Given the description of an element on the screen output the (x, y) to click on. 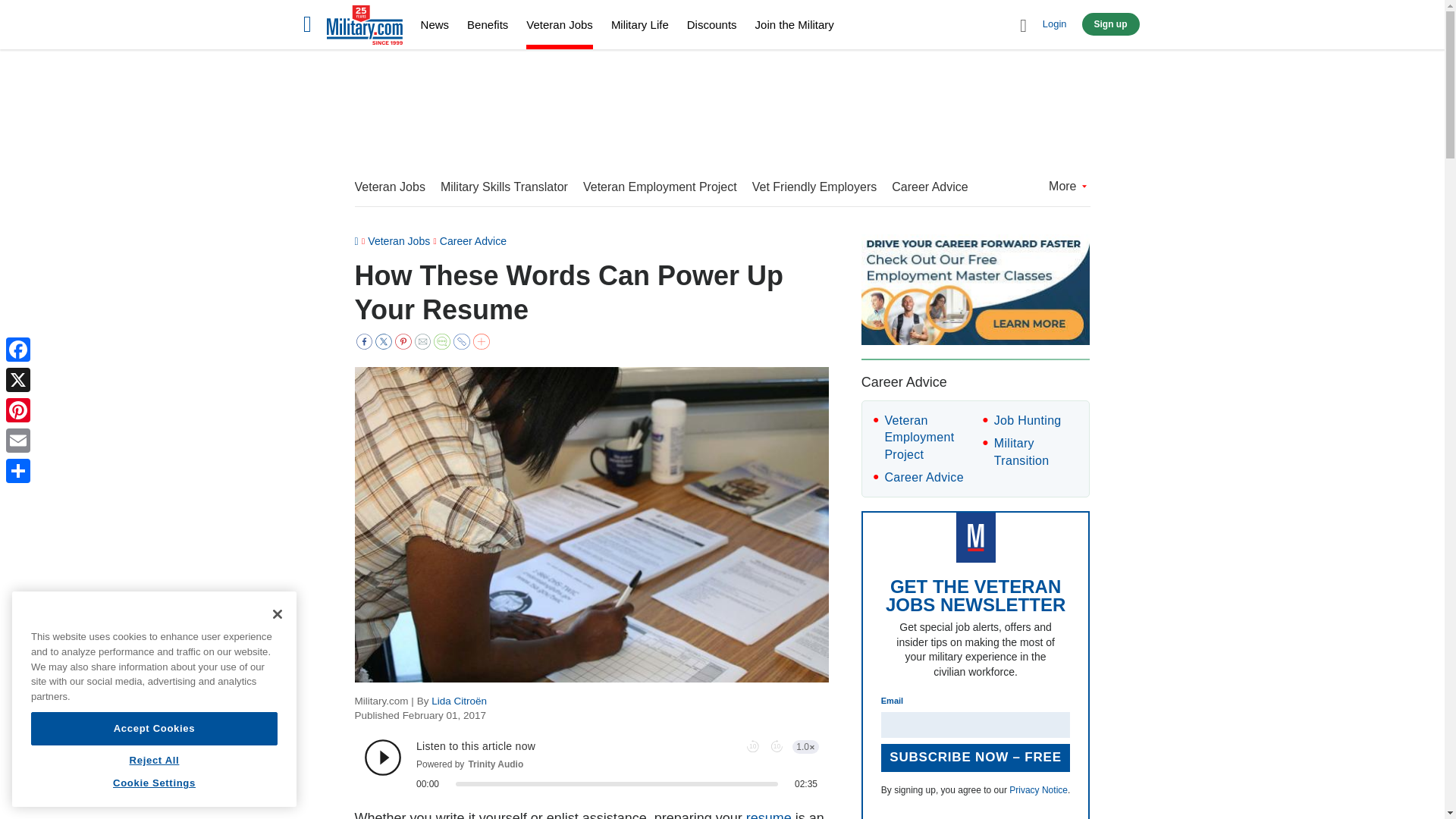
Home (364, 27)
Military Life (639, 24)
Trinity Audio Player (591, 763)
Benefits (487, 24)
Veteran Jobs (558, 26)
